Given the description of an element on the screen output the (x, y) to click on. 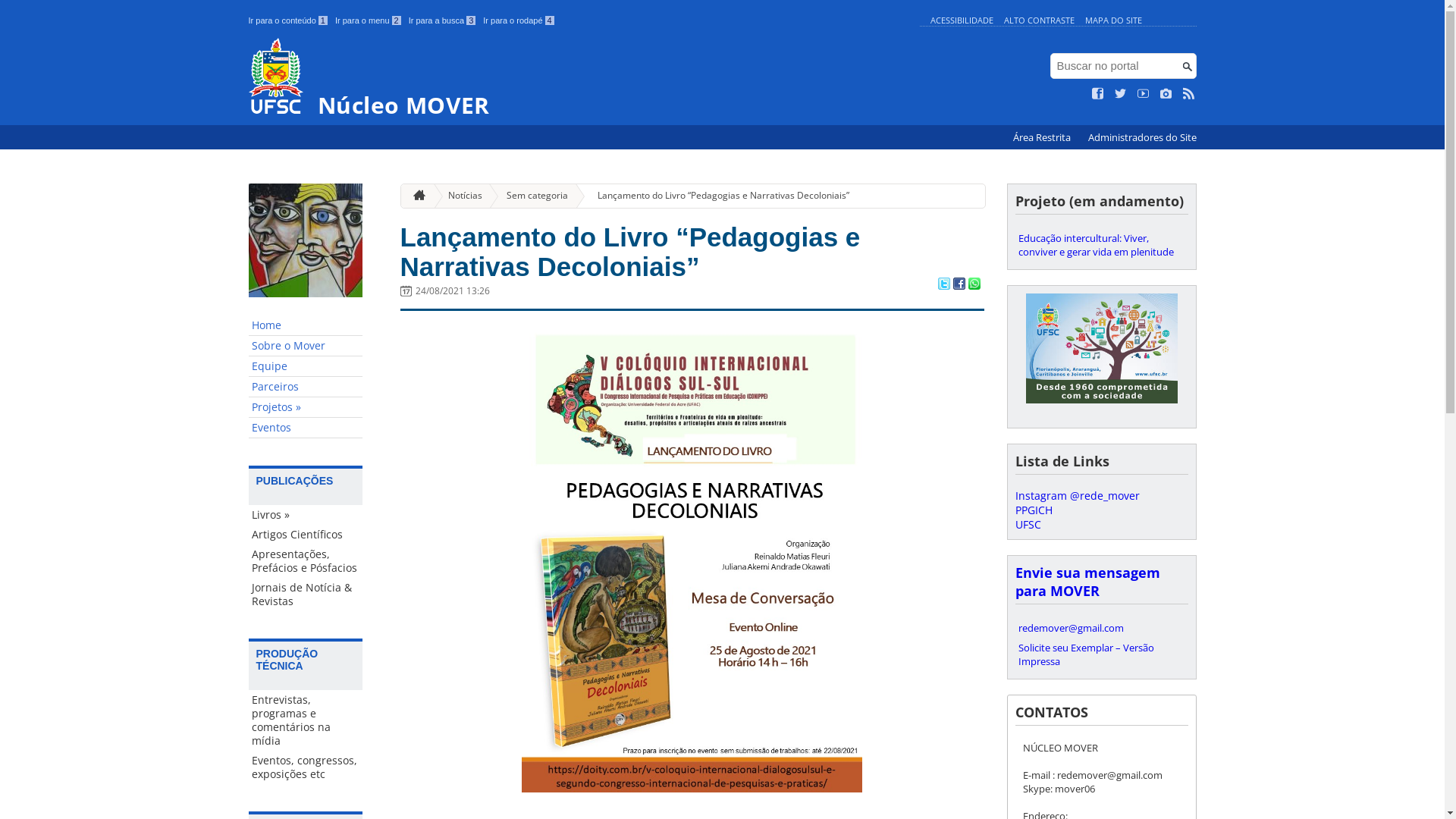
Siga no Twitter Element type: hover (1120, 93)
Instagram @rede_mover Element type: text (1076, 495)
ALTO CONTRASTE Element type: text (1039, 19)
MAPA DO SITE Element type: text (1112, 19)
Compartilhar no Twitter Element type: hover (943, 284)
UFSC Element type: text (1027, 524)
Equipe Element type: text (305, 366)
Ir para o menu 2 Element type: text (368, 20)
redemover@gmail.com Element type: text (1100, 627)
Veja no Instagram Element type: hover (1166, 93)
Sobre o Mover Element type: text (305, 345)
Sem categoria Element type: text (531, 195)
Home Element type: text (305, 325)
Envie sua mensagem para MOVER Element type: text (1086, 581)
Compartilhar no WhatsApp Element type: hover (973, 284)
Compartilhar no Facebook Element type: hover (958, 284)
Administradores do Site Element type: text (1141, 137)
ACESSIBILIDADE Element type: text (960, 19)
Parceiros Element type: text (305, 386)
Ir para a busca 3 Element type: text (442, 20)
Curta no Facebook Element type: hover (1098, 93)
PPGICH Element type: text (1032, 509)
Eventos Element type: text (305, 427)
